Given the description of an element on the screen output the (x, y) to click on. 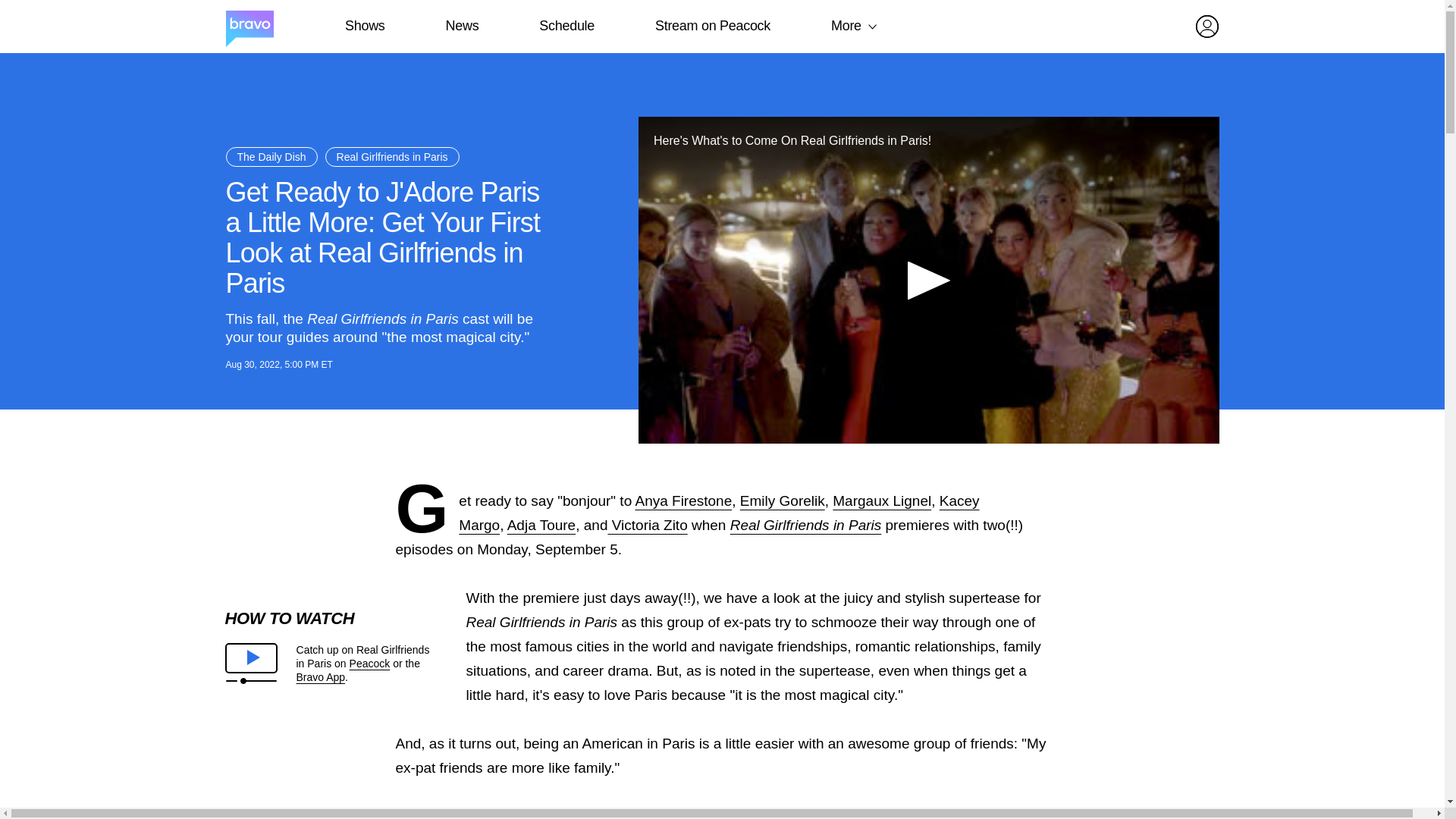
Emily Gorelik (782, 500)
Real Girlfriends in Paris (806, 524)
Peacock (369, 663)
News (462, 26)
Anya Firestone (683, 500)
Real Girlfriends in Paris (392, 157)
Emily Gorelik (782, 500)
Real Girlfriends in Paris (806, 524)
Kacey Margo (718, 513)
Schedule (566, 26)
Home (249, 26)
Stream on Peacock (712, 26)
More (846, 26)
 Victoria Zito (647, 524)
